Given the description of an element on the screen output the (x, y) to click on. 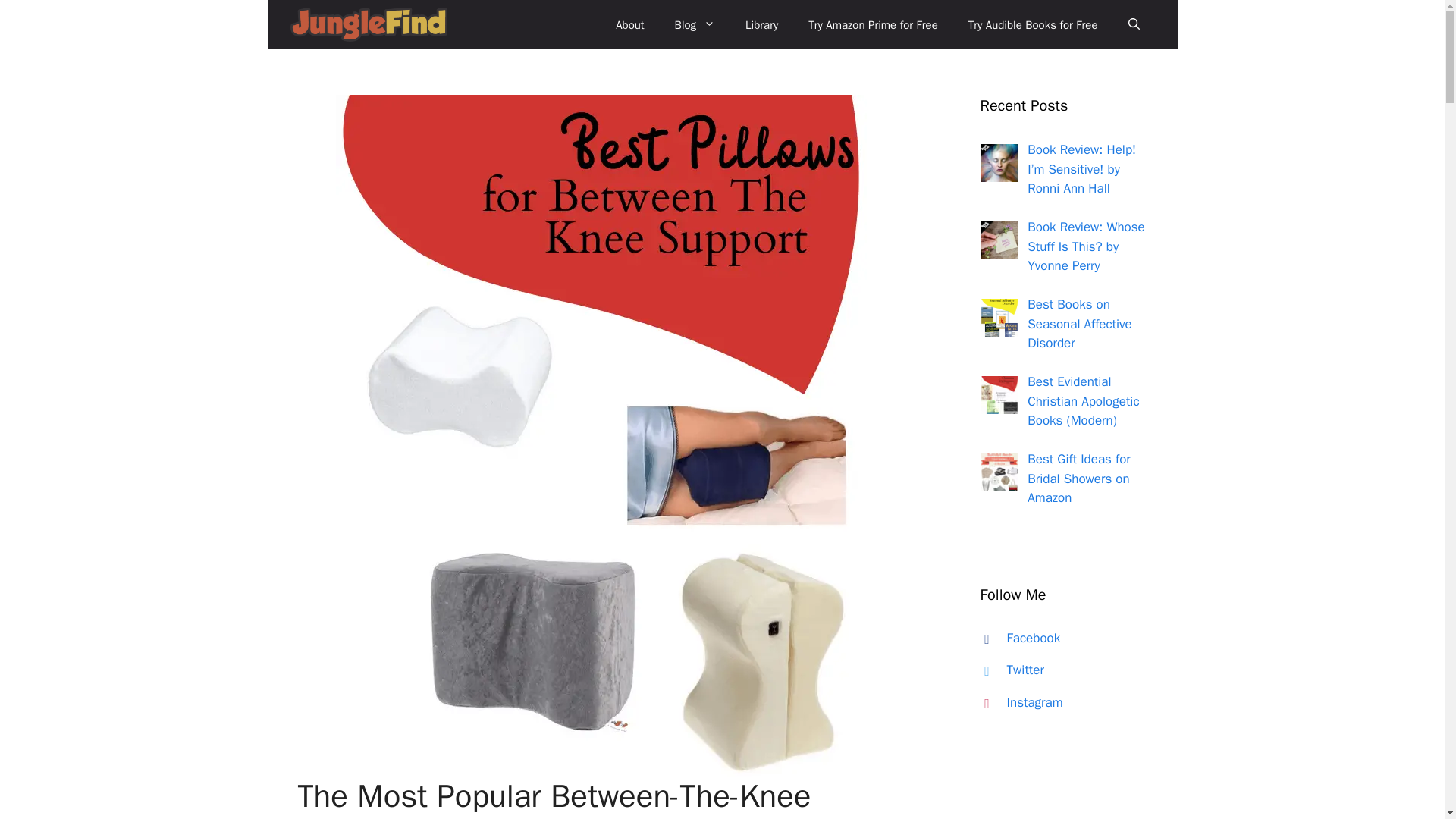
Try Audible Books for Free (1033, 23)
Blog (694, 23)
Try Amazon Prime for Free (873, 23)
About (629, 23)
Library (761, 23)
Instagram (1018, 702)
Twitter (1008, 669)
Facebook (1016, 637)
JungleFind (367, 24)
